Given the description of an element on the screen output the (x, y) to click on. 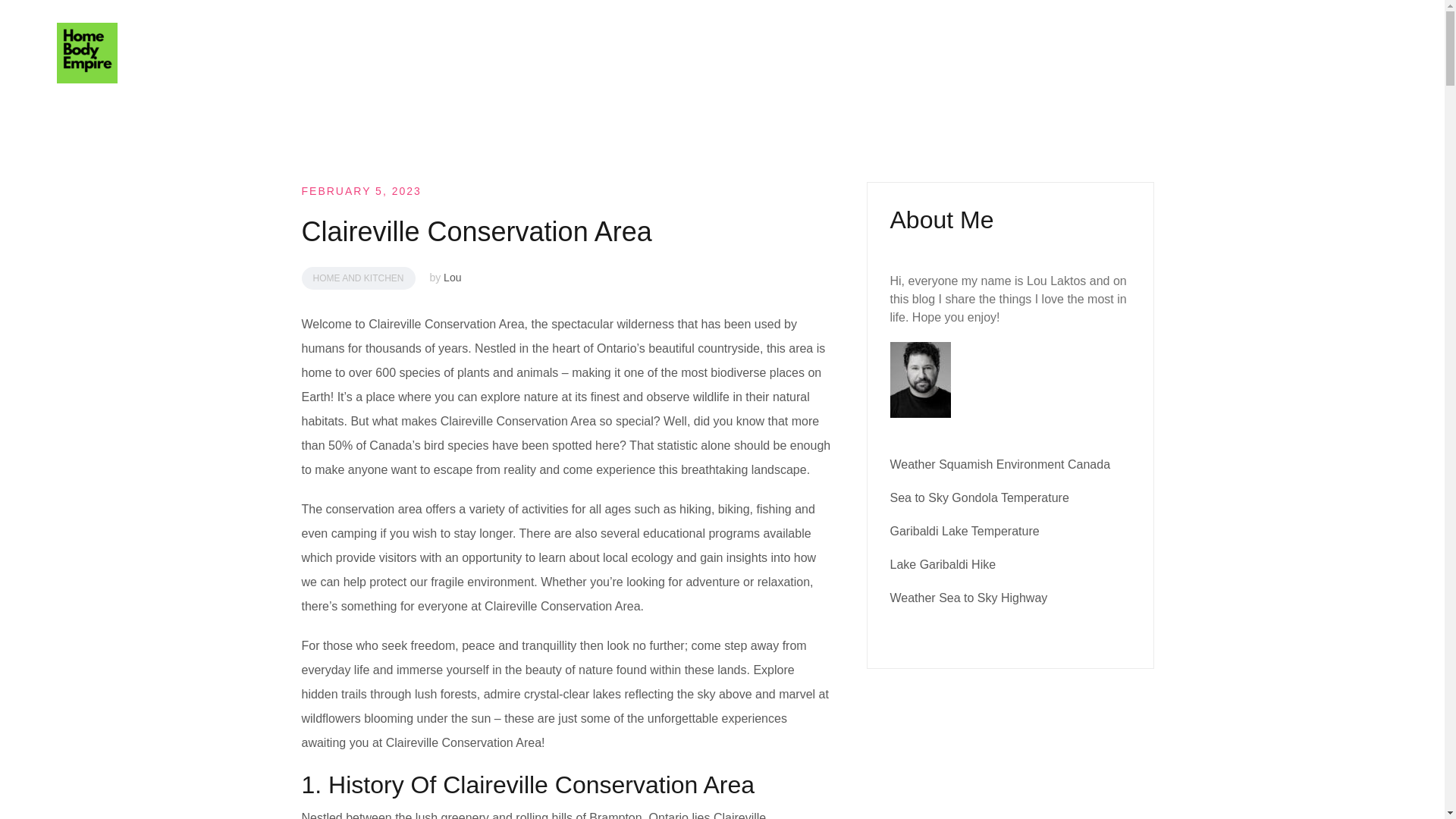
FEBRUARY 5, 2023 (361, 191)
Lake Garibaldi Hike (942, 563)
Garibaldi Lake Temperature (964, 530)
Contact Us (1235, 53)
Lou (452, 277)
Sea to Sky Gondola Temperature (978, 497)
HOME AND KITCHEN (357, 277)
Weather Sea to Sky Highway (968, 597)
Legal (1321, 53)
Home (1148, 53)
